Given the description of an element on the screen output the (x, y) to click on. 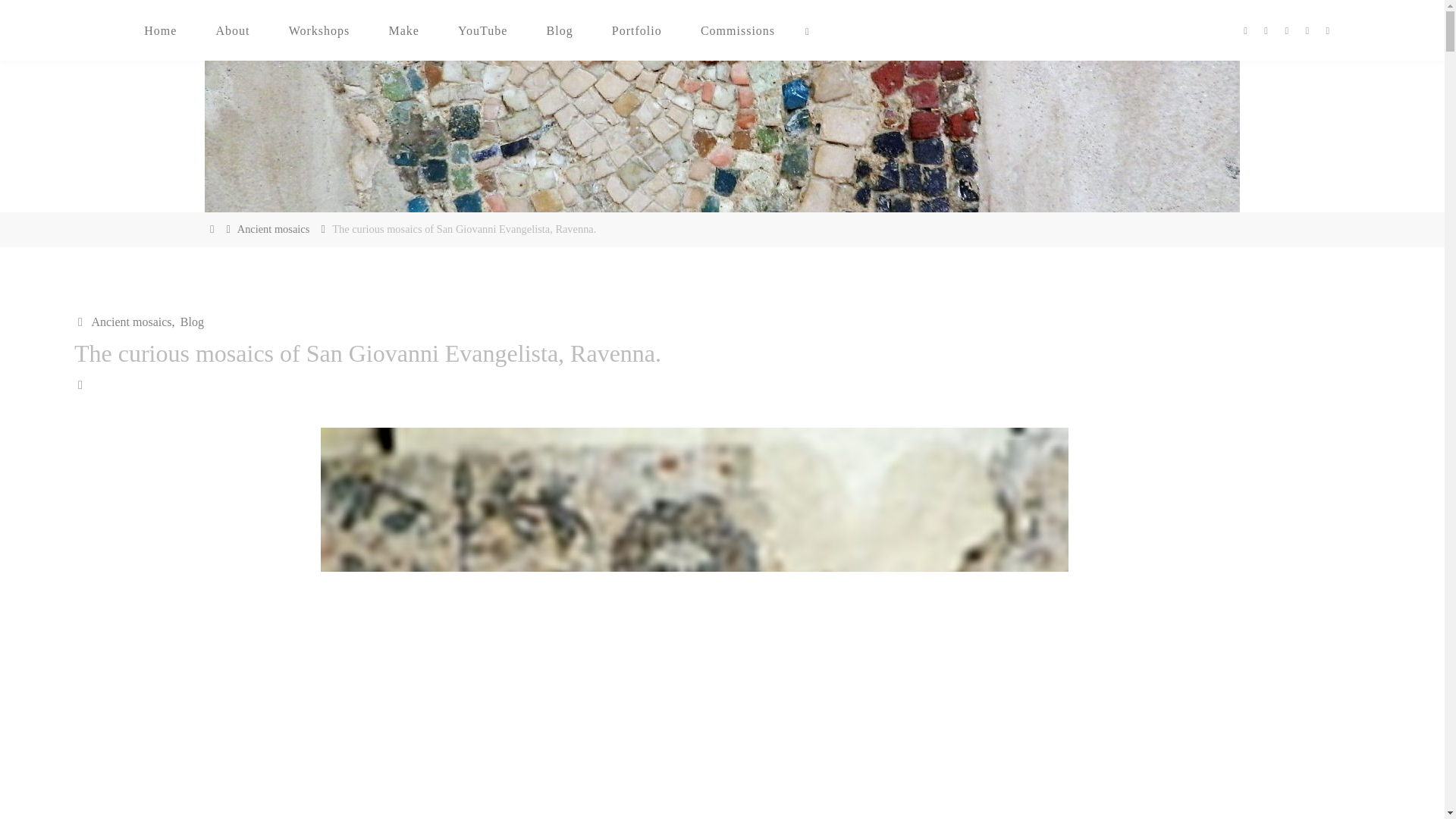
Blog (190, 321)
Ancient mosaics (273, 228)
Make (404, 30)
About (232, 30)
Workshops (319, 30)
Date (81, 384)
Portfolio (636, 30)
Ancient mosaics (129, 321)
Blog (559, 30)
YouTube (481, 30)
